Given the description of an element on the screen output the (x, y) to click on. 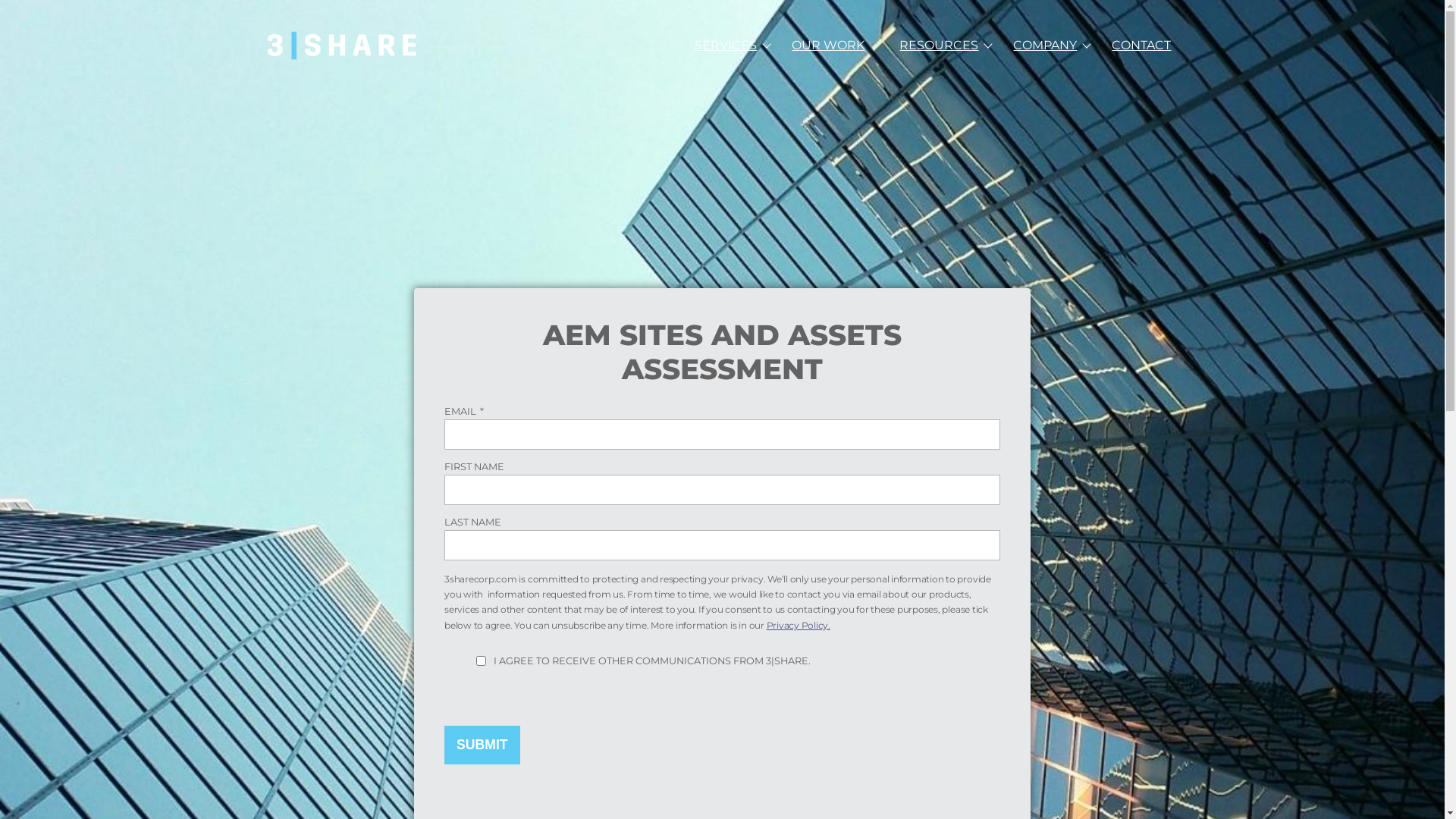
SERVICES Element type: text (725, 45)
CONTACT Element type: text (1140, 45)
Privacy Policy. Element type: text (798, 624)
RESOURCES Element type: text (938, 45)
OUR WORK Element type: text (827, 45)
3SHARE_LOGO_WHITE_2018 Element type: hover (342, 45)
Submit Element type: text (481, 744)
COMPANY Element type: text (1044, 45)
